Given the description of an element on the screen output the (x, y) to click on. 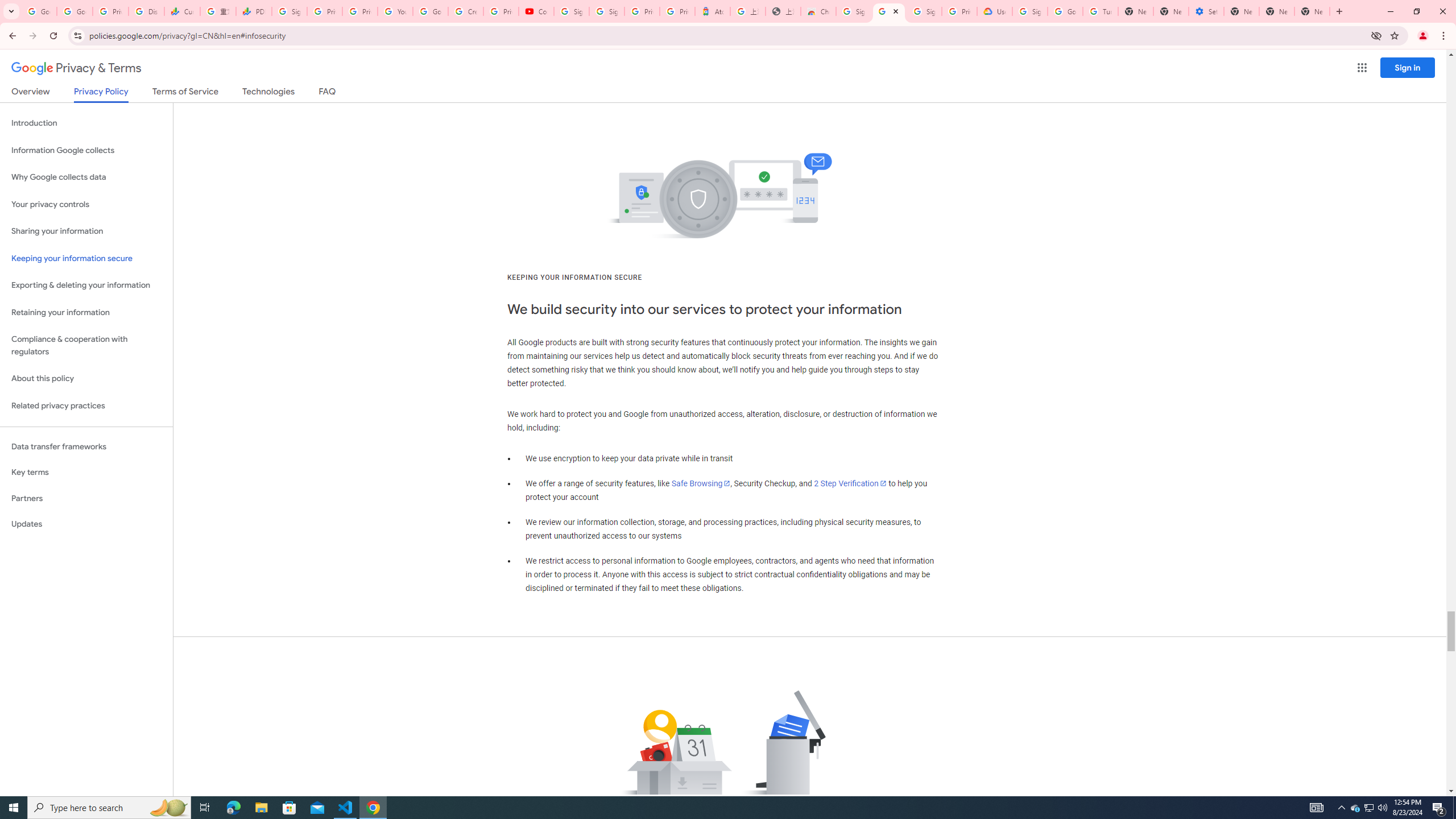
Google Account Help (1064, 11)
Atour Hotel - Google hotels (712, 11)
Sign in - Google Accounts (853, 11)
Sign in - Google Accounts (1029, 11)
Google Workspace Admin Community (39, 11)
Keeping your information secure (86, 258)
2 Step Verification (849, 483)
Sign in - Google Accounts (923, 11)
